Given the description of an element on the screen output the (x, y) to click on. 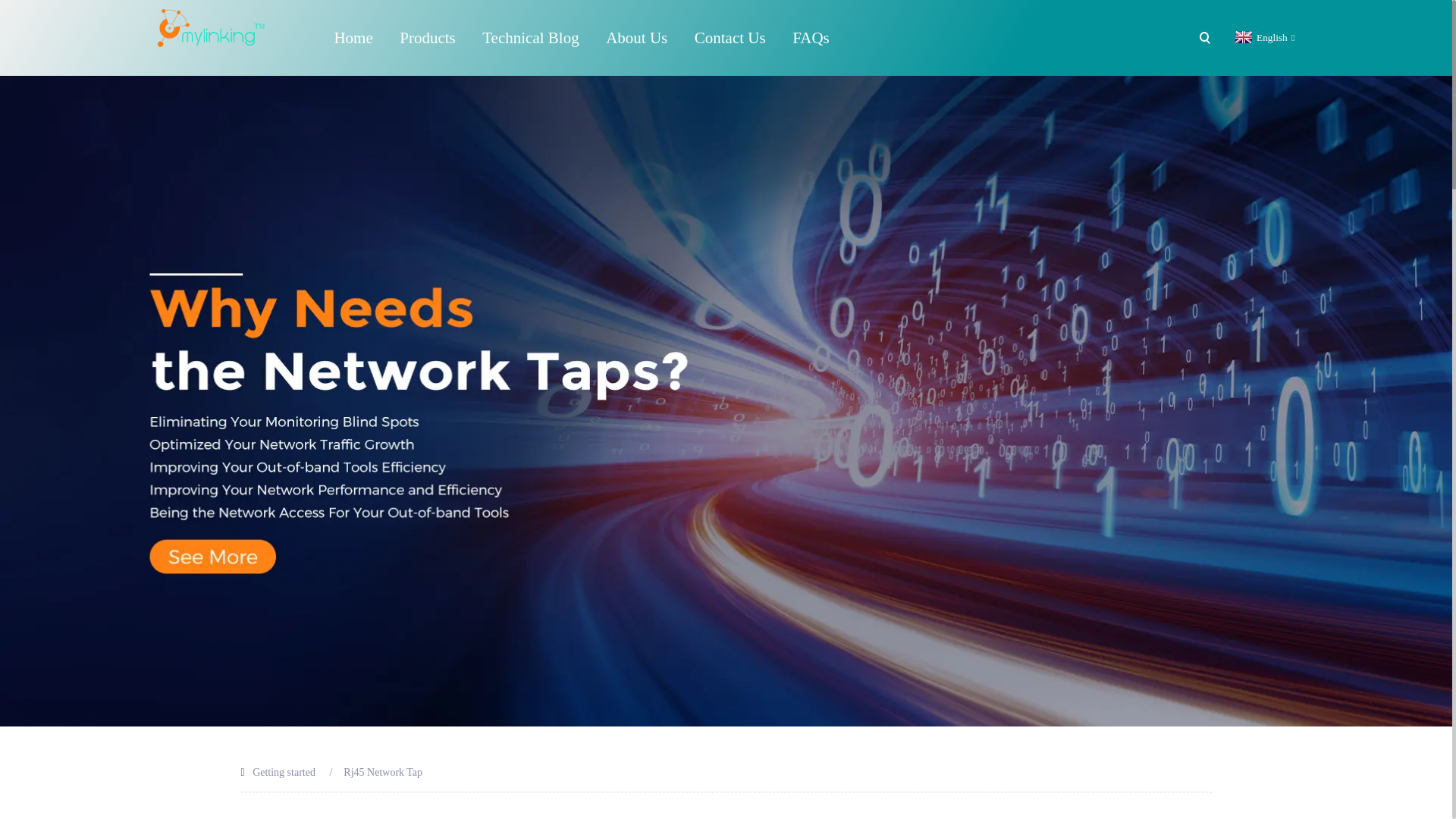
Products (426, 37)
